Given the description of an element on the screen output the (x, y) to click on. 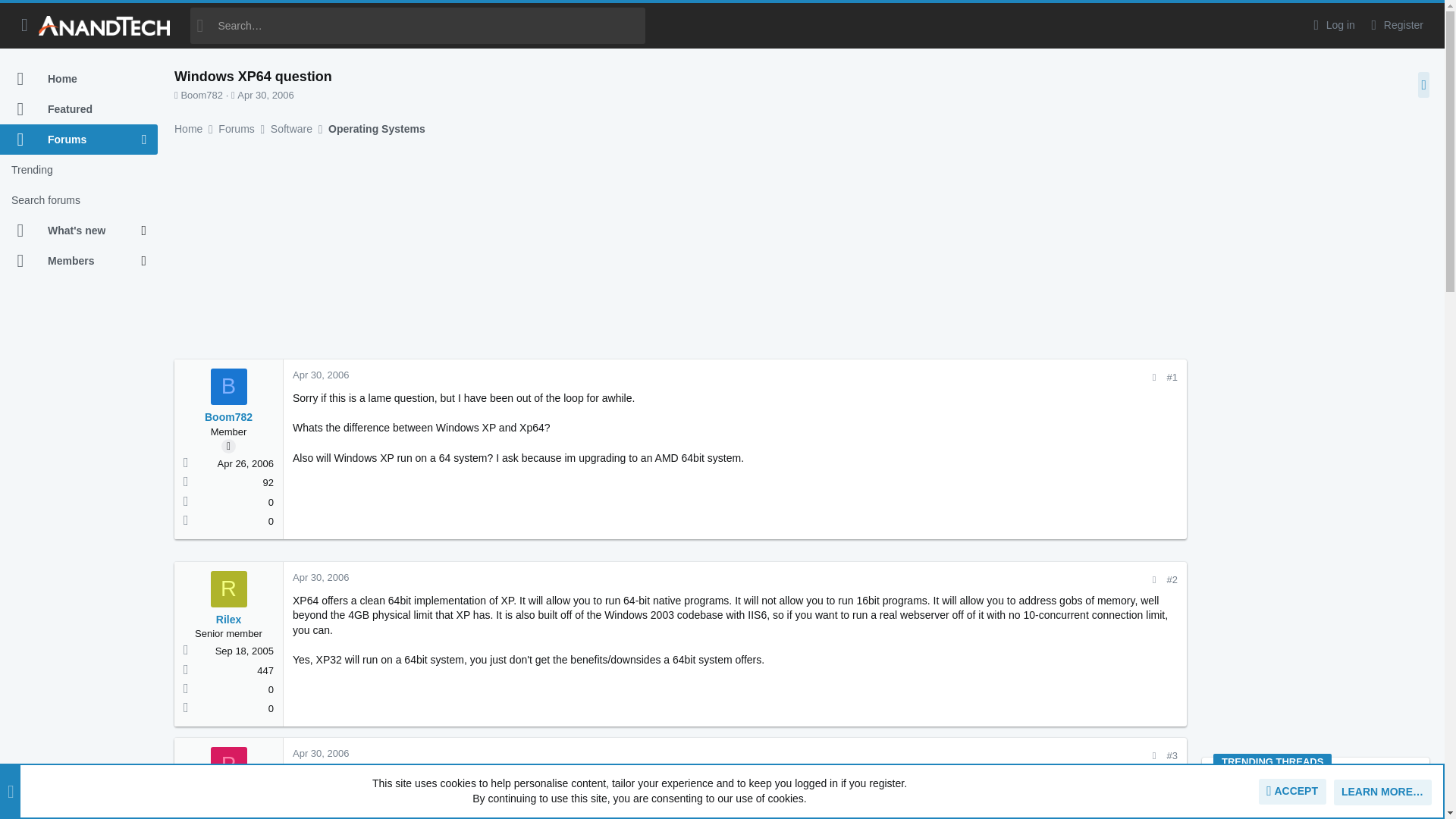
Register (1395, 24)
Trending (78, 169)
Log in (1332, 24)
What's new (70, 230)
Home (78, 78)
Search forums (78, 200)
Featured (78, 109)
Original poster (228, 445)
Apr 30, 2006 at 1:30 AM (265, 94)
Forums (70, 139)
